Given the description of an element on the screen output the (x, y) to click on. 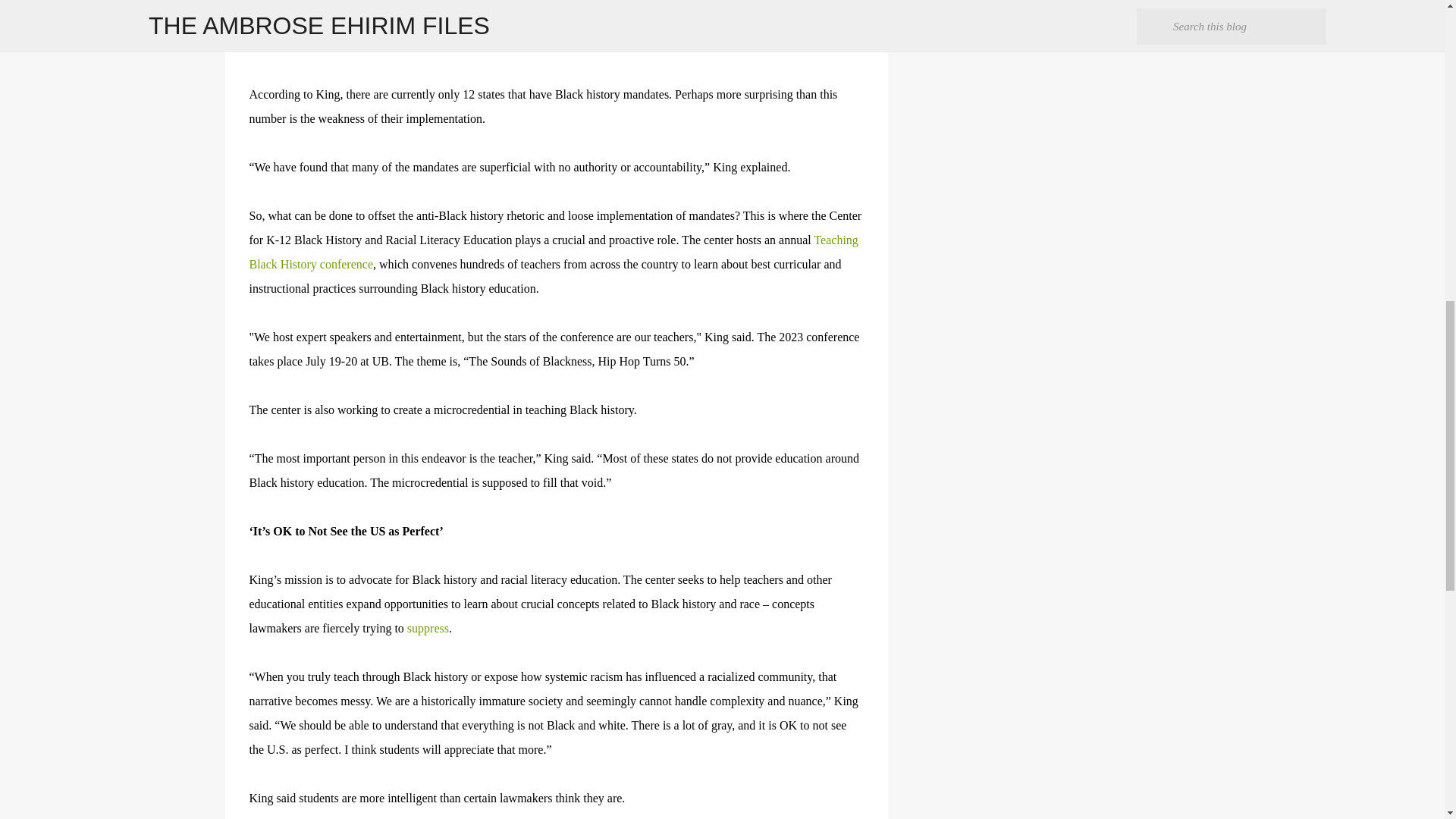
suppress (426, 627)
Teaching Black History conference (552, 252)
